Given the description of an element on the screen output the (x, y) to click on. 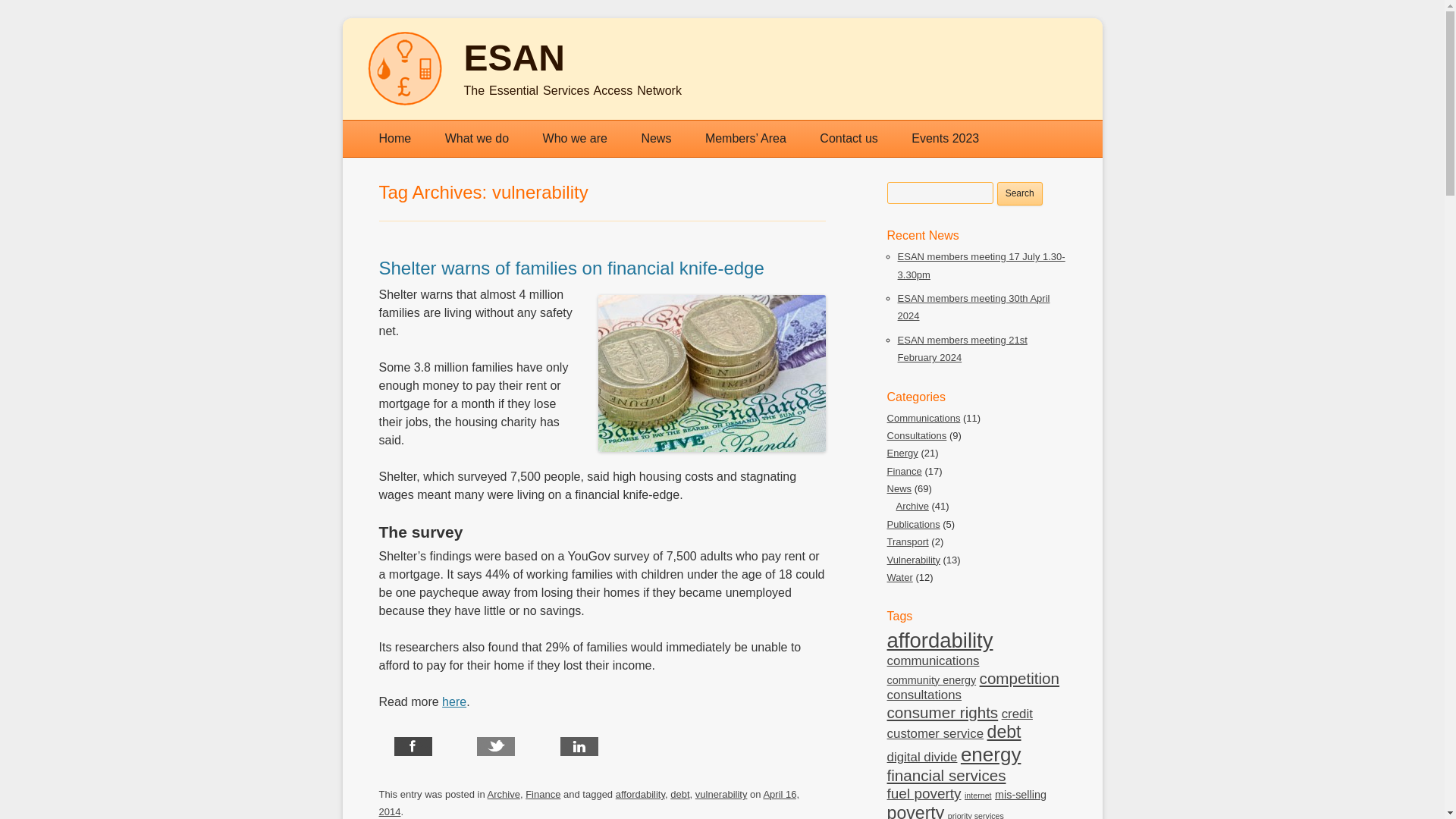
Finance (542, 794)
Skip to content (762, 126)
Skip to content (762, 126)
Share on LinkedIn (617, 748)
April 16, 2014 (588, 802)
Search (1019, 193)
Archive (503, 794)
What we do (476, 138)
Who we are (575, 138)
Contact us (848, 138)
Events 2023 (944, 138)
Share on Facebook. (451, 748)
Home (395, 138)
Shelter warns of families on financial knife-edge (571, 267)
Share on Twitter. (534, 748)
